Given the description of an element on the screen output the (x, y) to click on. 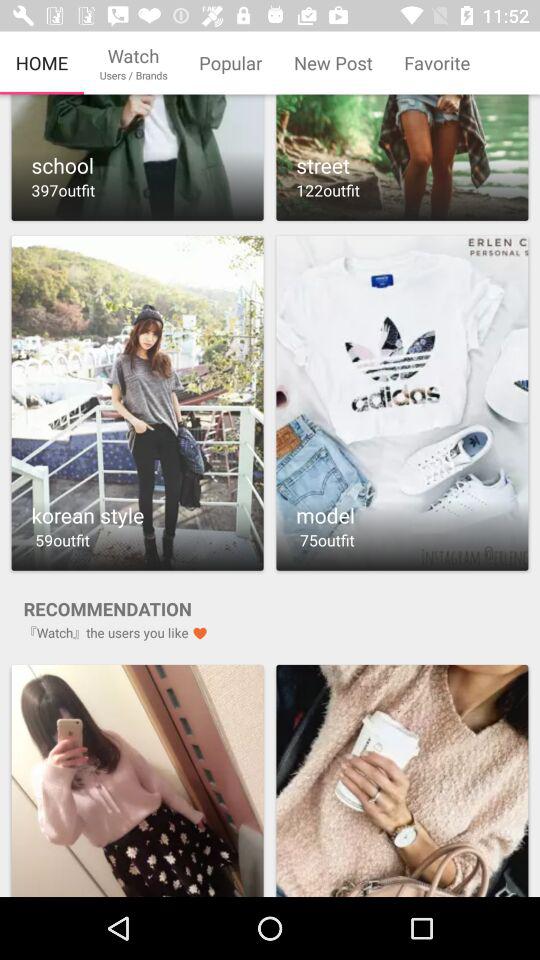
advertisement (137, 780)
